Given the description of an element on the screen output the (x, y) to click on. 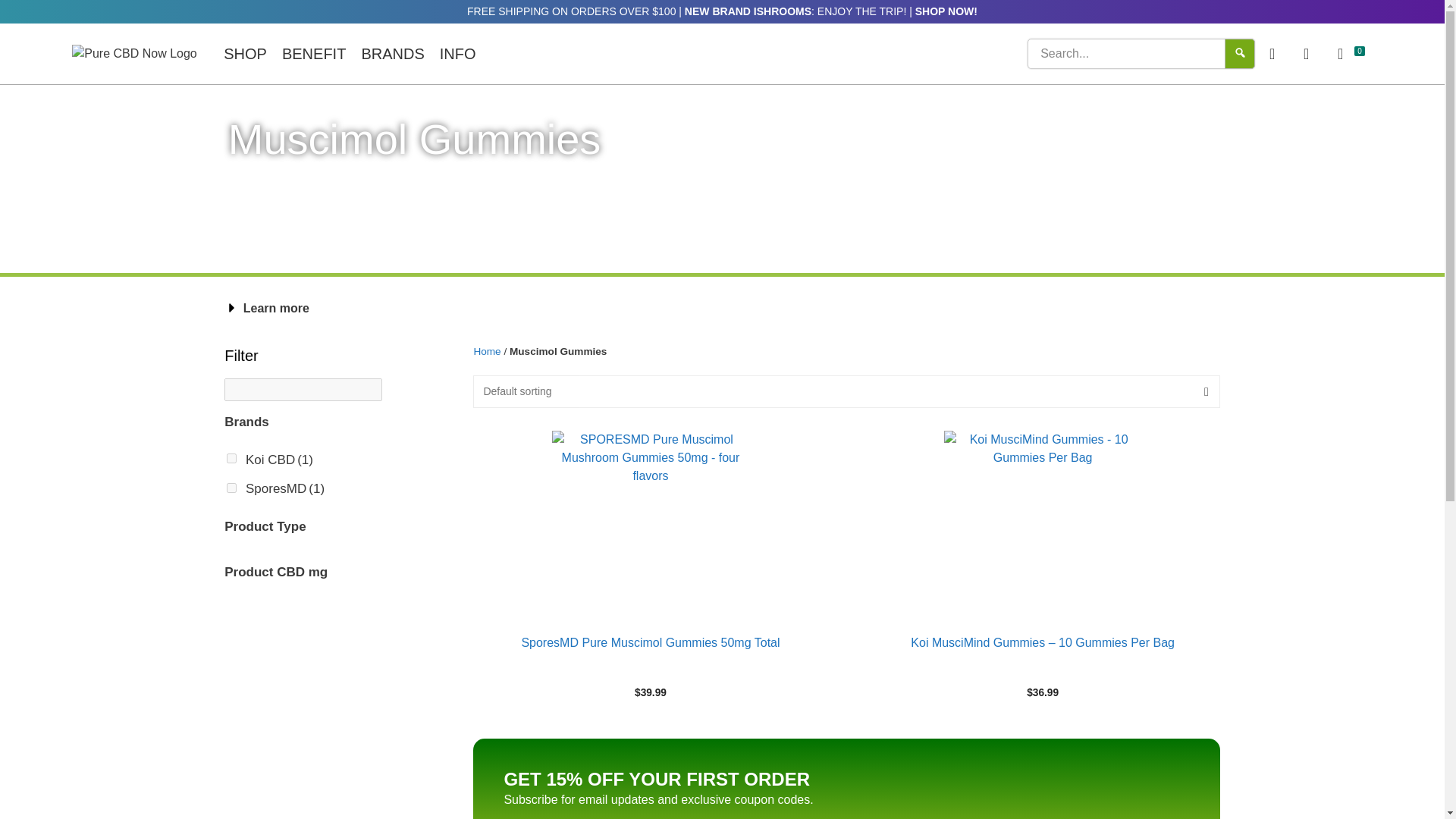
SHOP NOW! (945, 10)
NEW BRAND ISHROOMS (747, 10)
18530 (231, 488)
6084 (231, 458)
SHOP (245, 53)
